Given the description of an element on the screen output the (x, y) to click on. 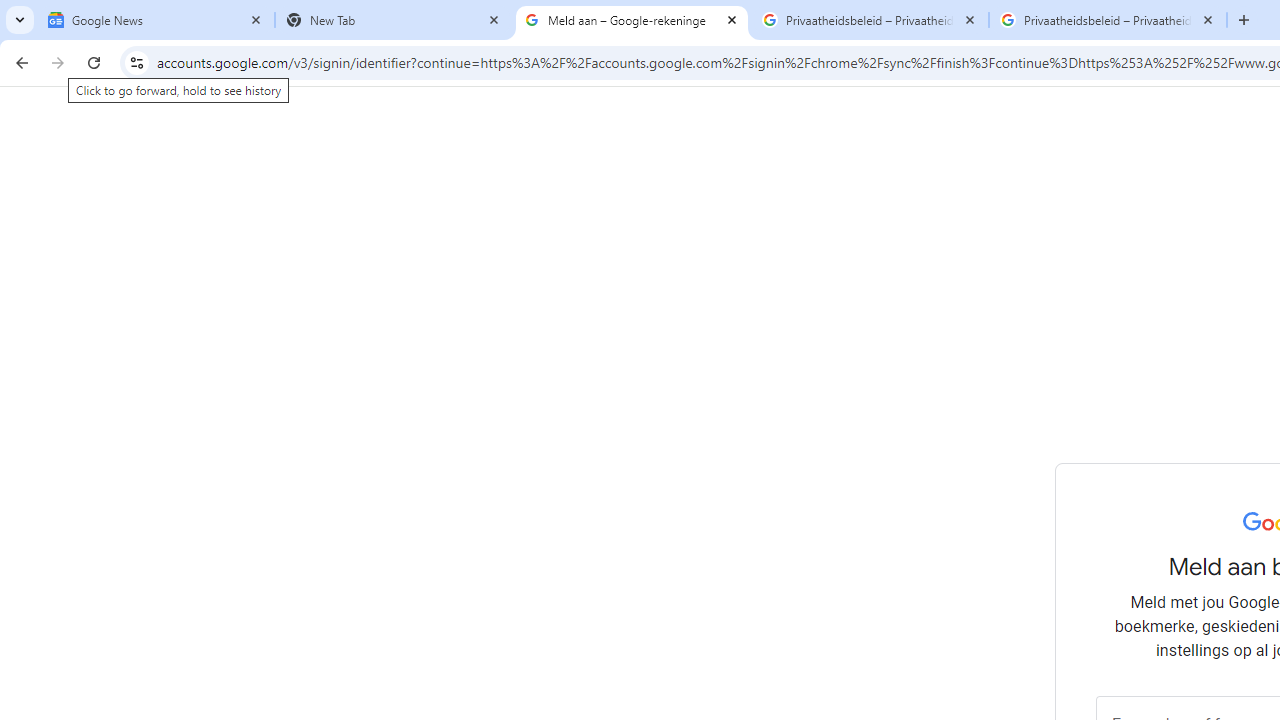
New Tab (394, 20)
Google News (156, 20)
